Given the description of an element on the screen output the (x, y) to click on. 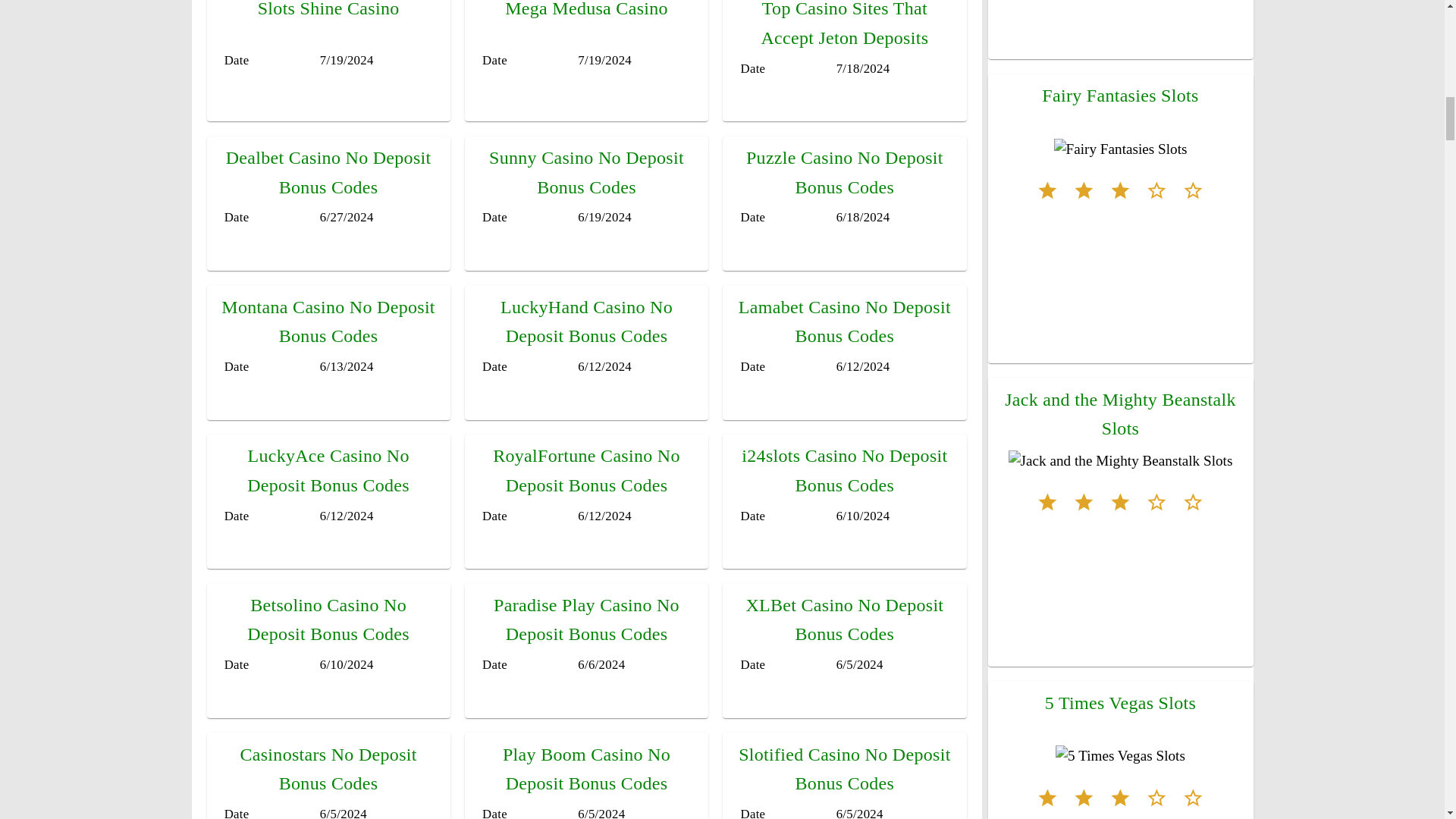
Dealbet Casino No Deposit Bonus Codes (327, 172)
Mega Medusa Casino (586, 9)
Montana Casino No Deposit Bonus Codes (327, 321)
Paradise Play Casino No Deposit Bonus Codes (586, 619)
Sunny Casino No Deposit Bonus Codes (586, 172)
Top Casino Sites That Accept Jeton Deposits (844, 23)
LuckyAce Casino No Deposit Bonus Codes (328, 469)
Betsolino Casino No Deposit Bonus Codes (328, 619)
LuckyHand Casino No Deposit Bonus Codes (586, 321)
Casinostars No Deposit Bonus Codes (328, 768)
RoyalFortune Casino No Deposit Bonus Codes (586, 469)
Lamabet Casino No Deposit Bonus Codes (844, 321)
Puzzle Casino No Deposit Bonus Codes (844, 172)
XLBet Casino No Deposit Bonus Codes (844, 619)
i24slots Casino No Deposit Bonus Codes (844, 469)
